Given the description of an element on the screen output the (x, y) to click on. 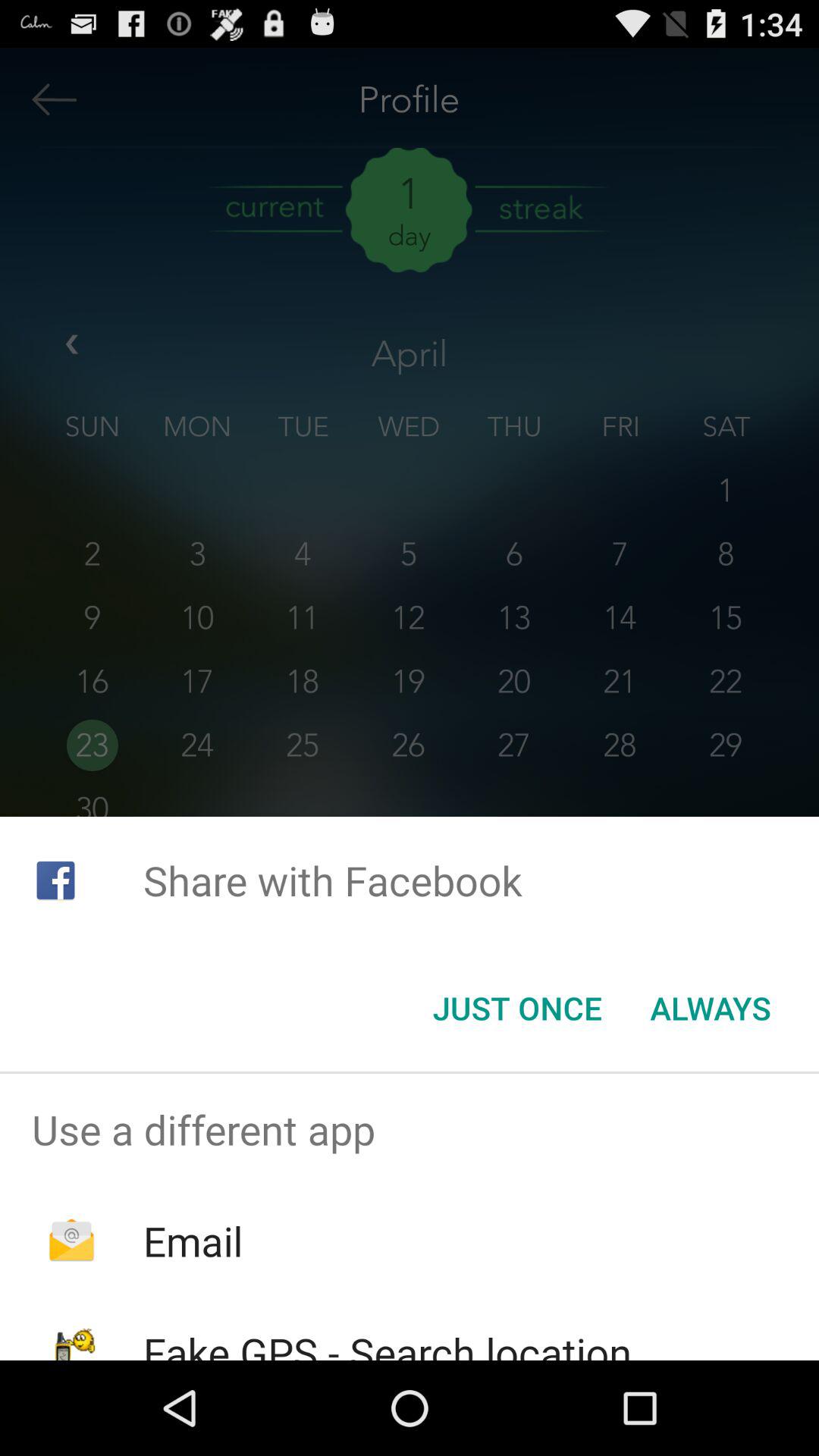
tap the item below the share with facebook icon (517, 1007)
